Given the description of an element on the screen output the (x, y) to click on. 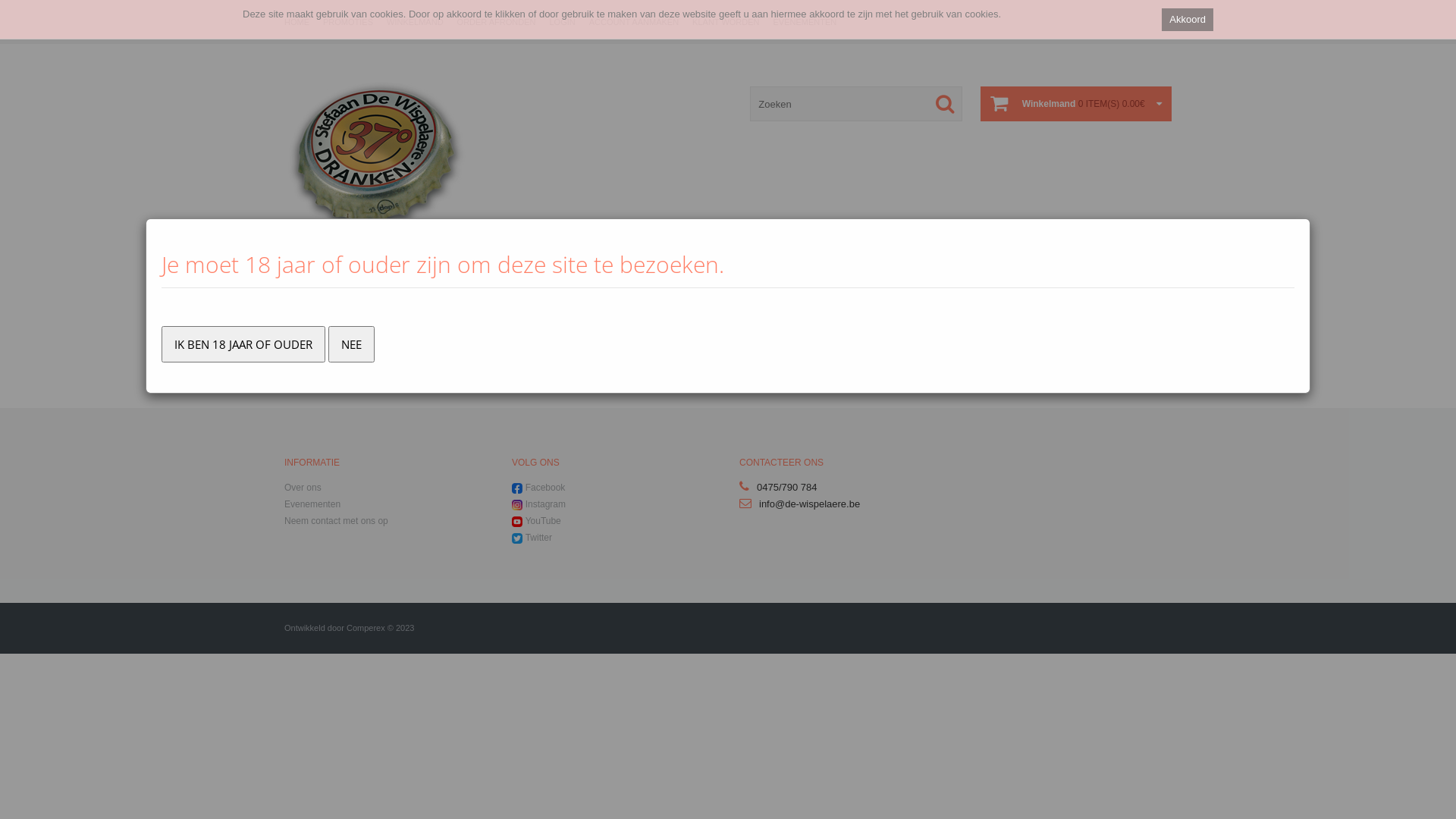
info@de-wispelaere.be Element type: text (809, 503)
Dranken De Wispelaere Element type: hover (378, 160)
Comperex Element type: text (365, 627)
FRISDRANK & SAPPEN Element type: text (602, 301)
Facebook Element type: text (545, 487)
WIJN & BUBBELS Element type: text (475, 301)
EVENEMENTEN Element type: text (854, 301)
Over ons Element type: text (302, 487)
0475/790 784 Element type: text (786, 486)
EVENEMENTEN Element type: text (805, 21)
HOME Element type: text (296, 21)
PROMOTIES Element type: text (348, 21)
Akkoord Element type: text (1187, 19)
ORDER AFRONDEN Element type: text (496, 21)
IK BEN 18 JAAR OF OUDER Element type: text (243, 344)
WINKELMAND Element type: text (414, 21)
Twitter Element type: text (538, 537)
LOGIN Element type: text (561, 21)
YouTube Element type: text (543, 520)
NEE Element type: text (351, 344)
Instagram Element type: text (545, 503)
Evenementen Element type: text (312, 503)
ACCOUNT AANMAKEN Element type: text (633, 21)
WARME DRANKEN &HORECA Element type: text (1107, 309)
Neem contact met ons op Element type: text (336, 520)
KLANT WORDEN Element type: text (725, 21)
BIER Element type: text (347, 301)
GESCHENKEN Element type: text (981, 301)
WATER & ZUIVEL Element type: text (727, 301)
